Given the description of an element on the screen output the (x, y) to click on. 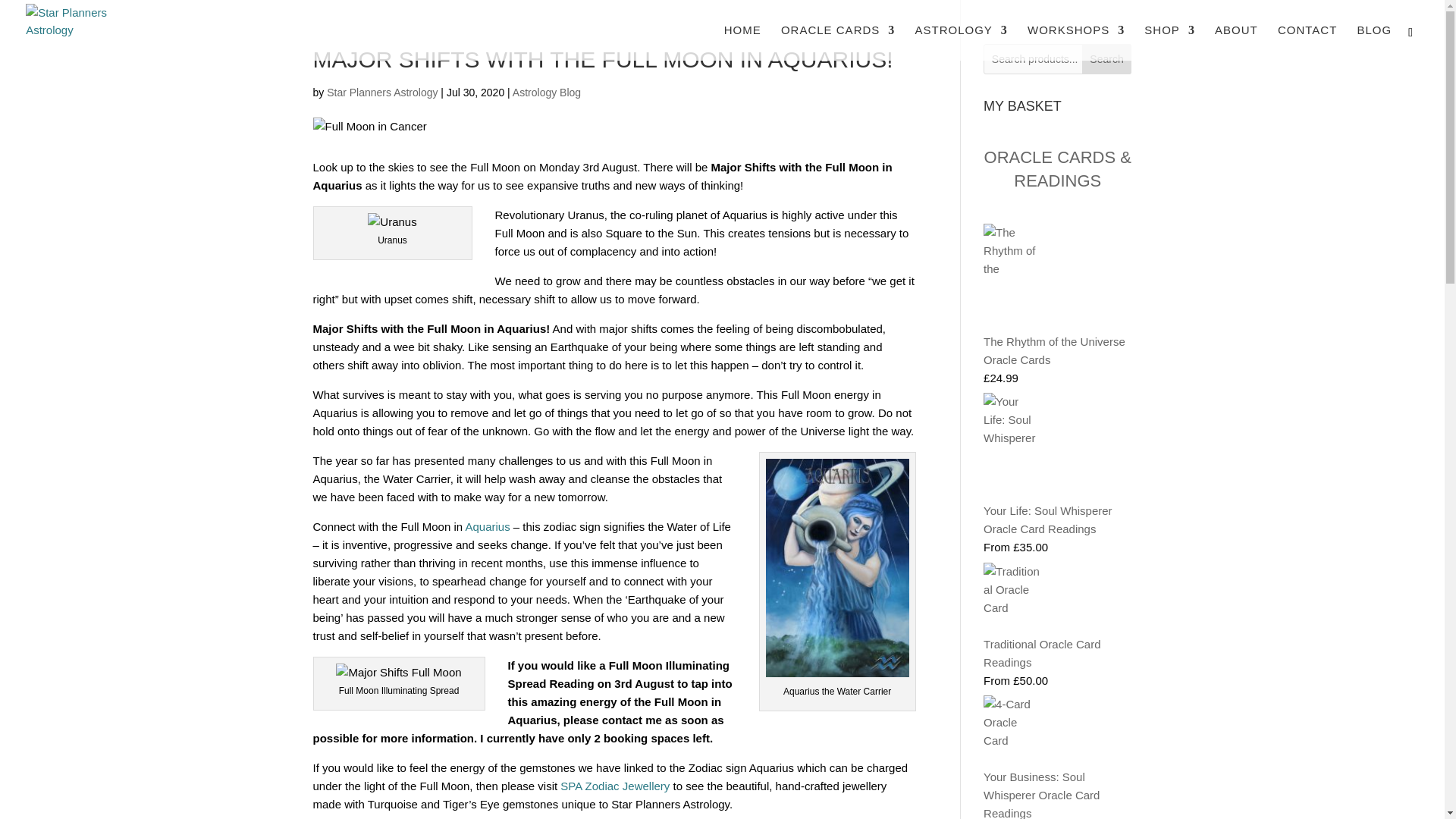
ASTROLOGY (960, 42)
ORACLE CARDS (837, 42)
HOME (742, 42)
Posts by Star Planners Astrology (382, 92)
